Given the description of an element on the screen output the (x, y) to click on. 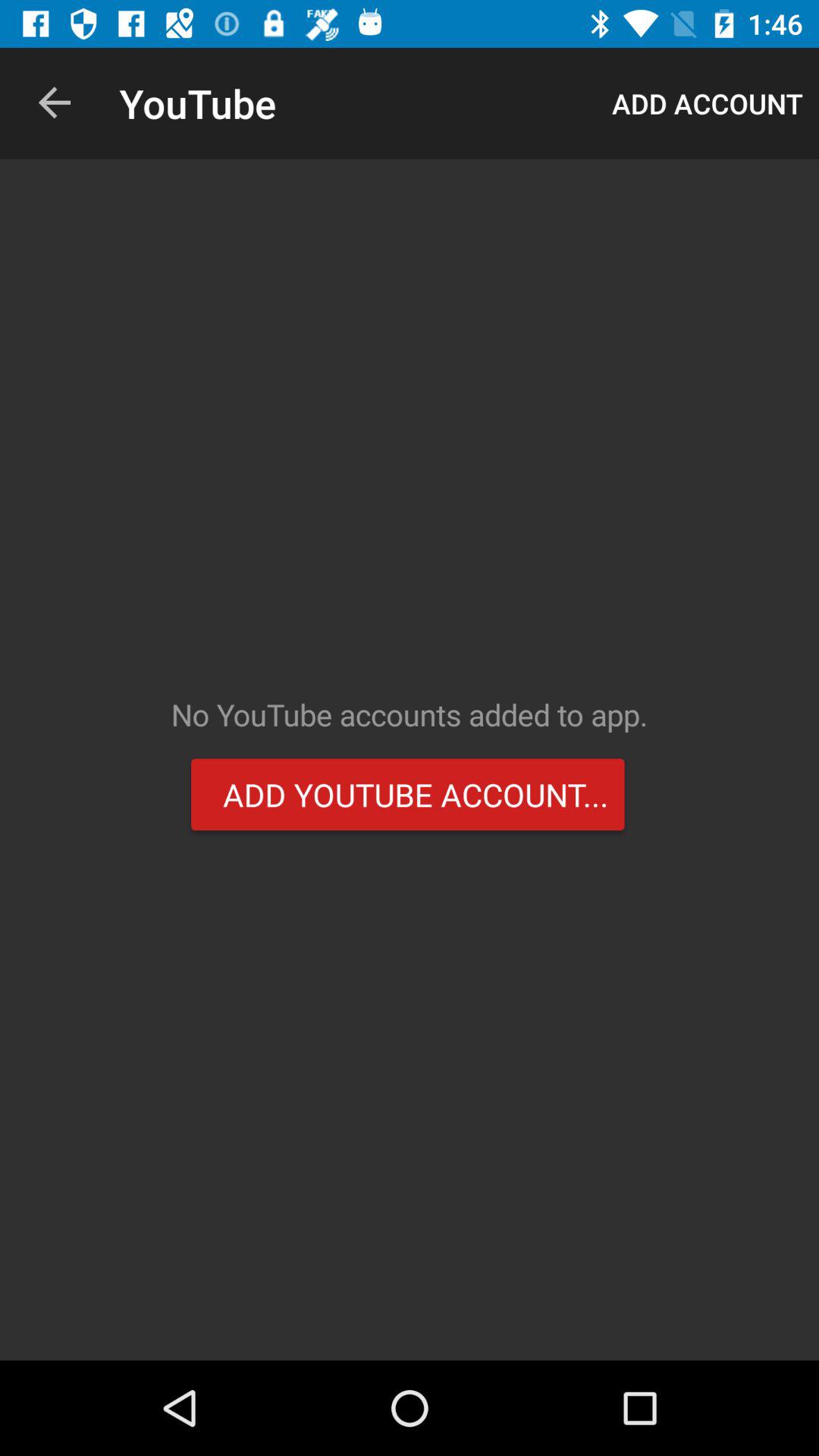
select icon next to the youtube item (55, 103)
